Given the description of an element on the screen output the (x, y) to click on. 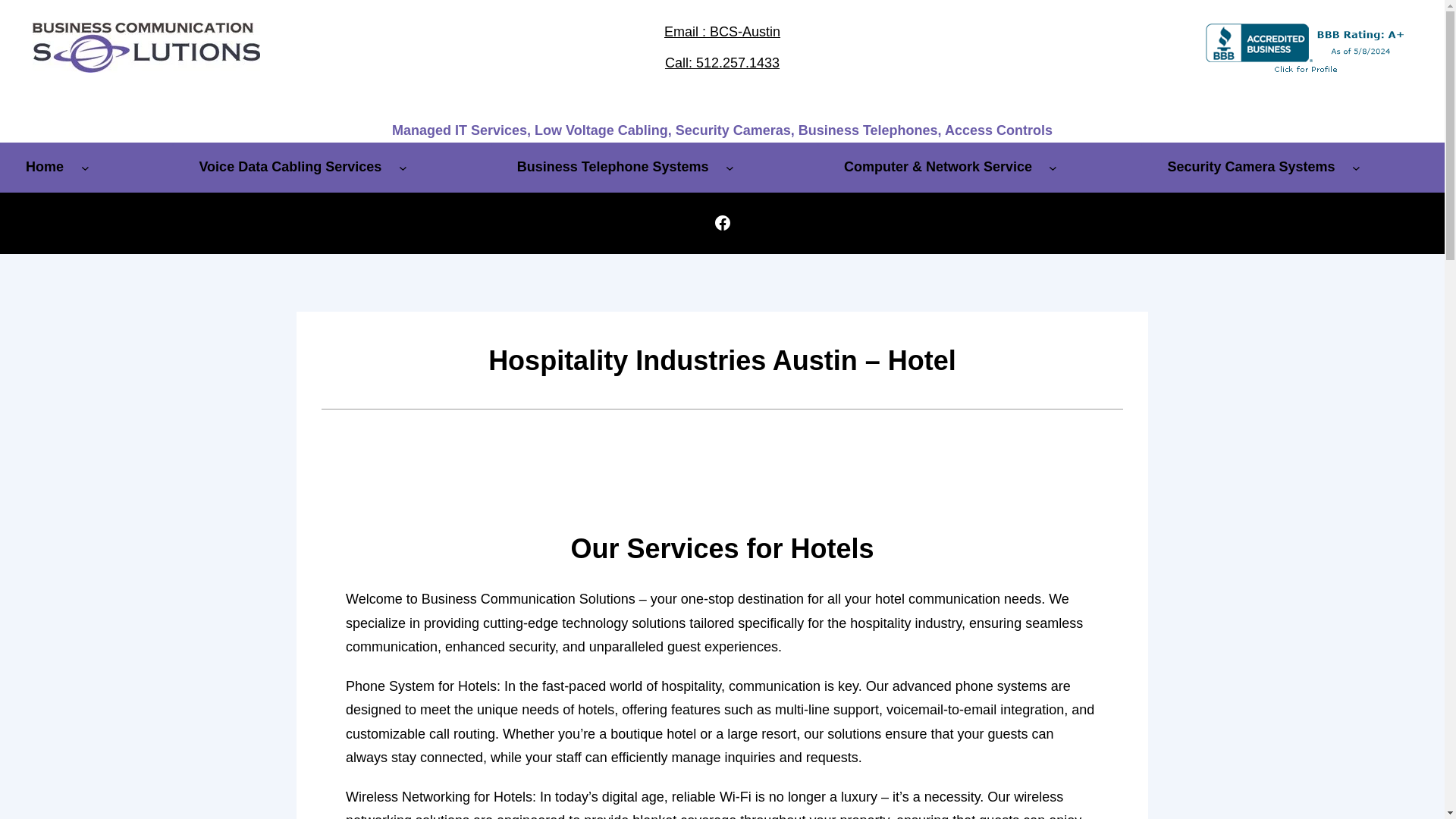
Call: 512.257.1433 (721, 61)
Voice Data Cabling Services (289, 167)
Email : BCS-Austin (721, 31)
Business Telephone Systems (612, 167)
bcs austin logo (146, 47)
Home (44, 167)
